Given the description of an element on the screen output the (x, y) to click on. 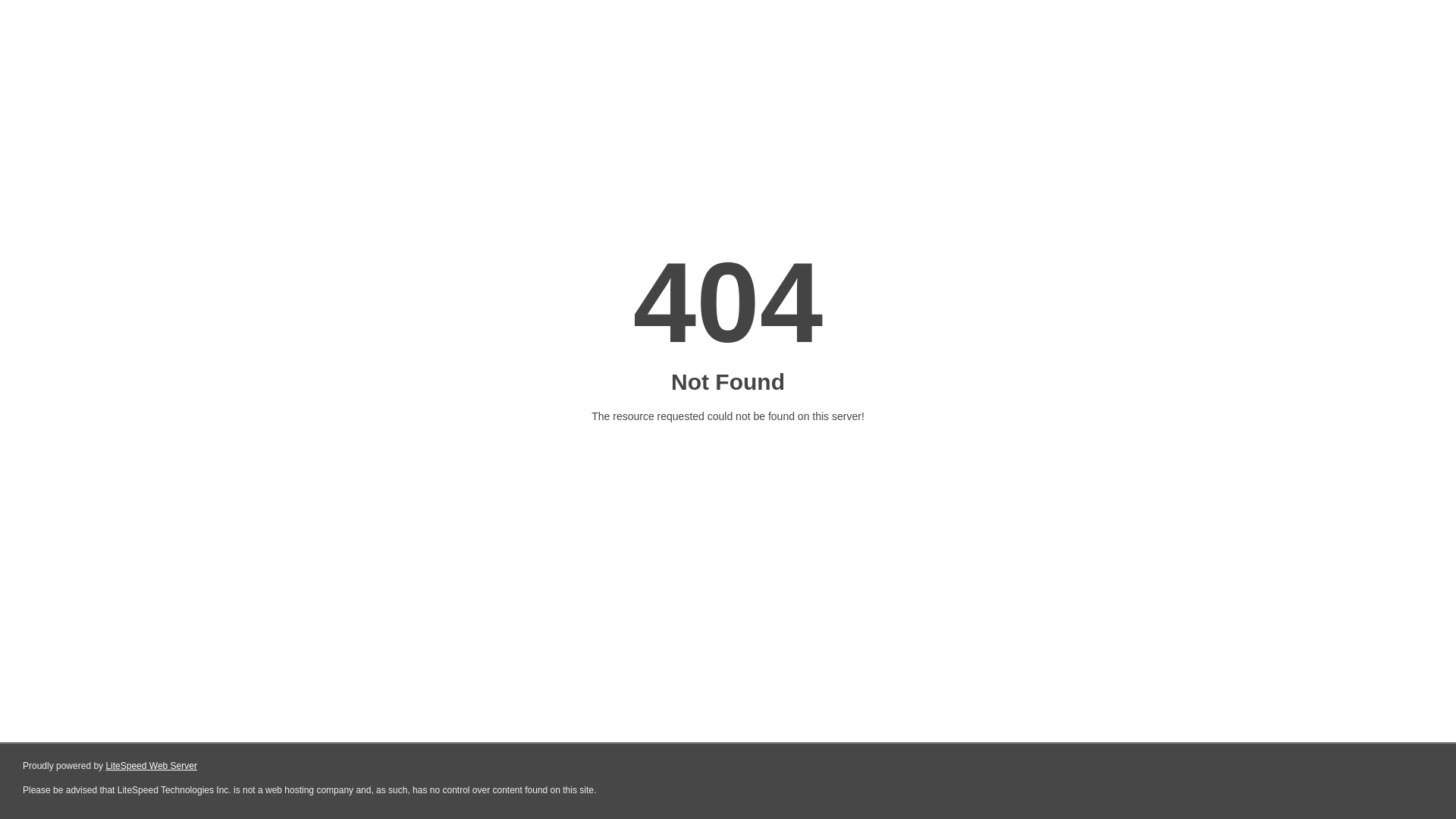
LiteSpeed Web Server Element type: text (151, 765)
